Given the description of an element on the screen output the (x, y) to click on. 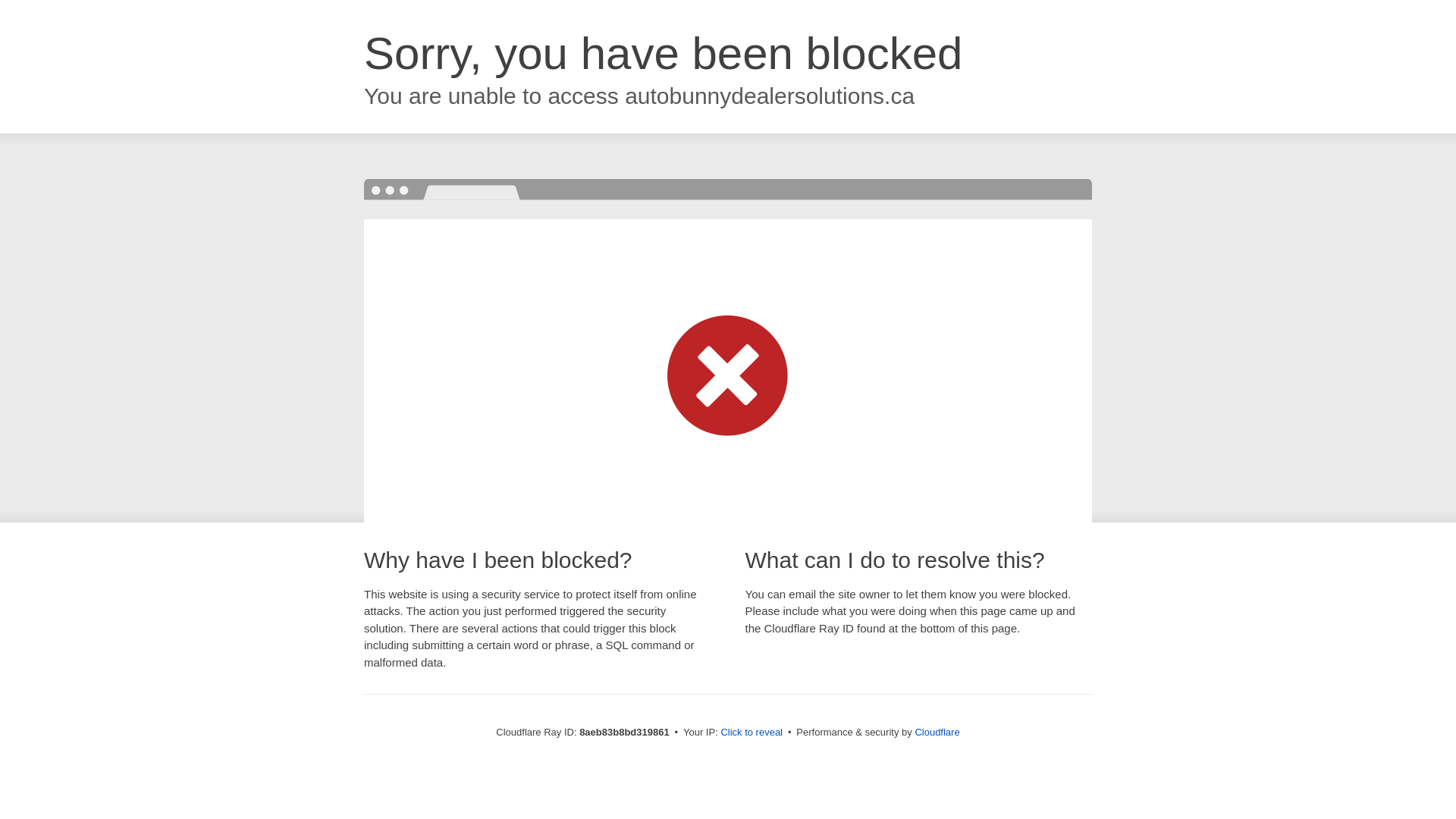
Click to reveal (751, 732)
Cloudflare (936, 731)
